Given the description of an element on the screen output the (x, y) to click on. 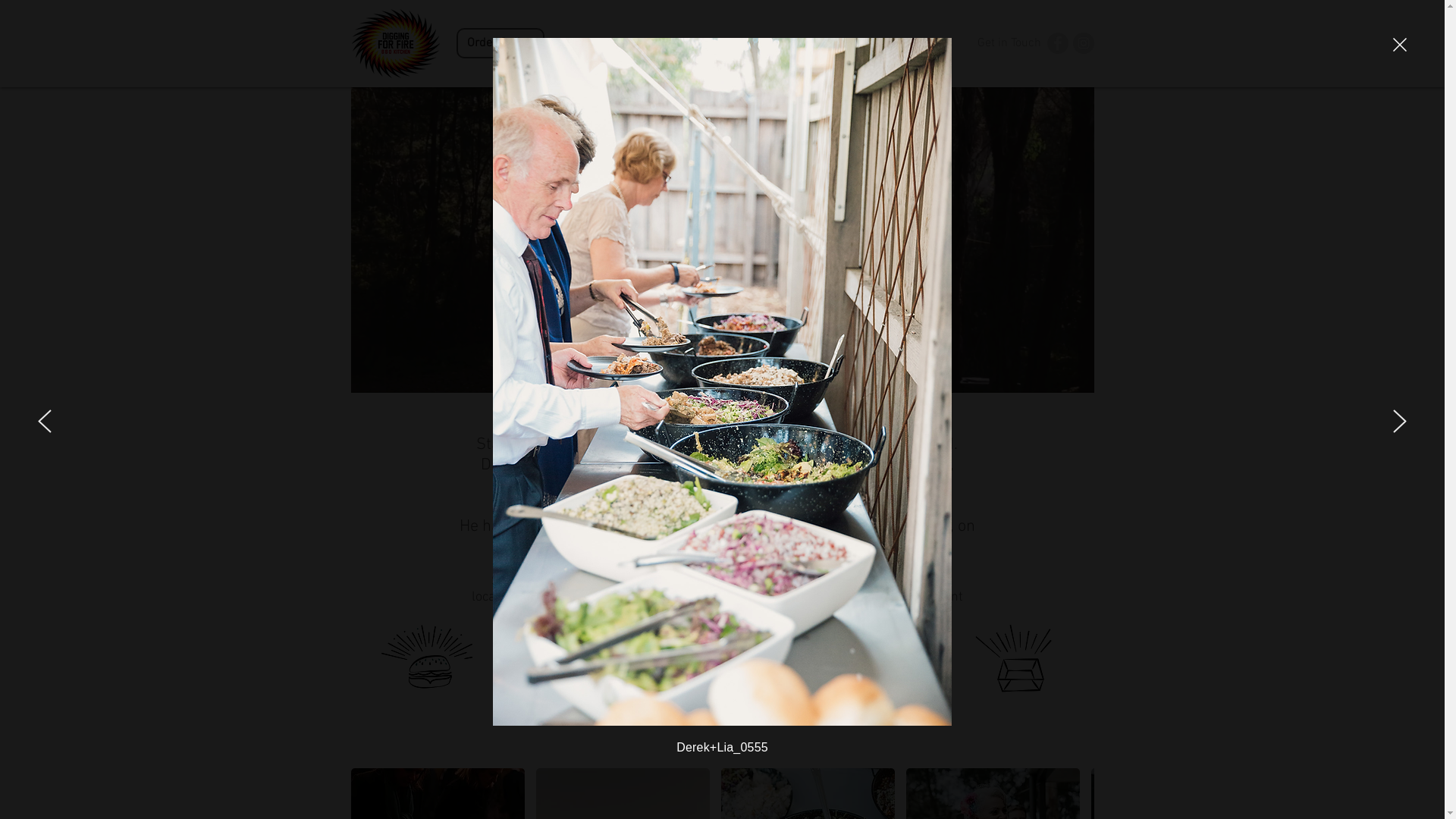
Our Menus Element type: text (698, 43)
Our Food Truck Element type: text (801, 43)
Get in Touch Element type: text (1008, 43)
About Us Element type: text (595, 43)
Our kitchen Element type: text (905, 43)
Order Online Element type: text (500, 43)
